Given the description of an element on the screen output the (x, y) to click on. 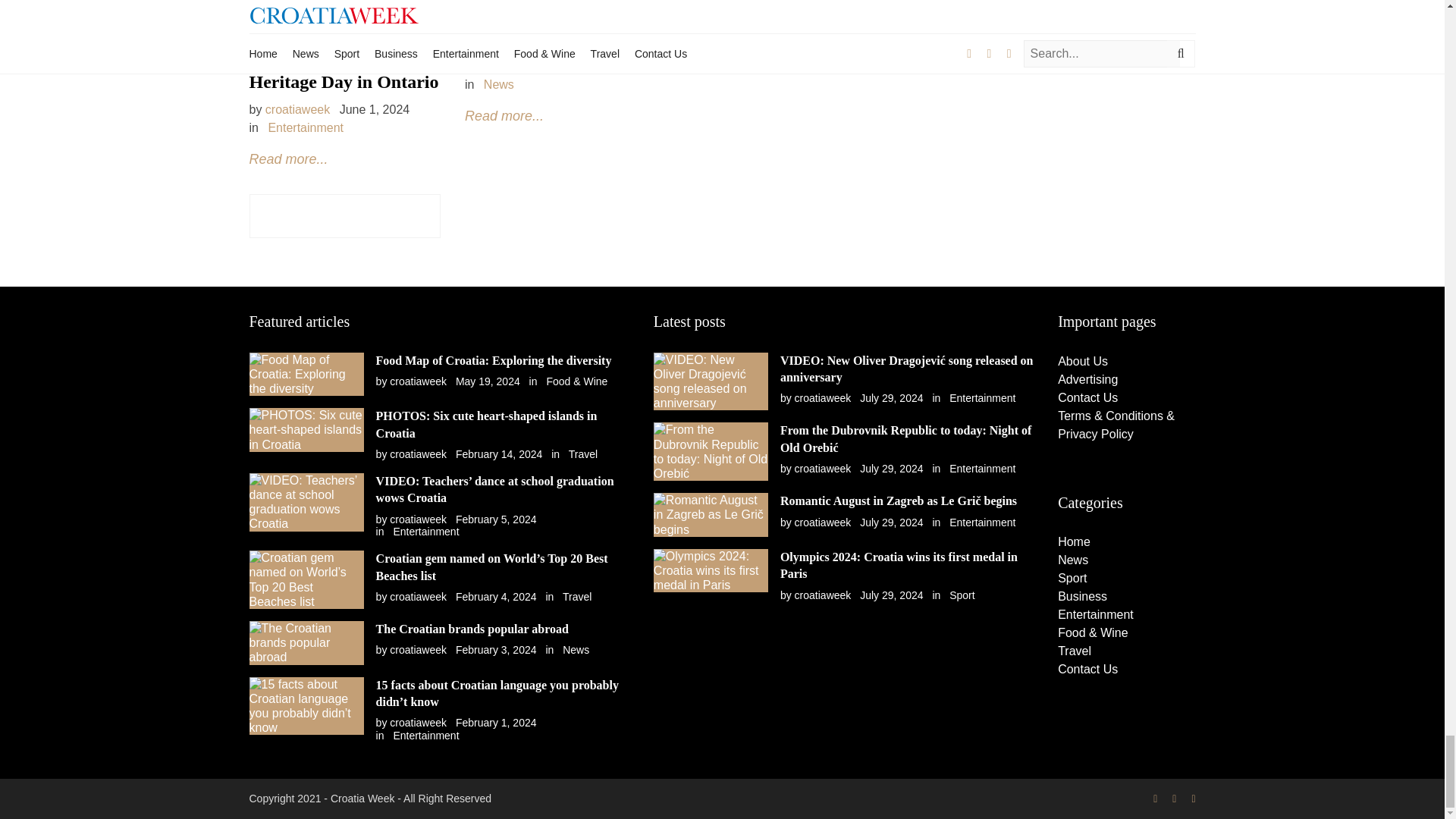
Read more... (503, 115)
croatiaweek (418, 453)
Entertainment (305, 127)
Food Map of Croatia: Exploring the diversity (493, 359)
croatiaweek (512, 65)
PHOTOS: Six cute heart-shaped islands in Croatia (485, 423)
News (498, 83)
Law proclaiming Croatian Heritage Day in Ontario passed (553, 23)
croatiaweek (418, 381)
croatiaweek (297, 109)
Read more... (287, 159)
